Given the description of an element on the screen output the (x, y) to click on. 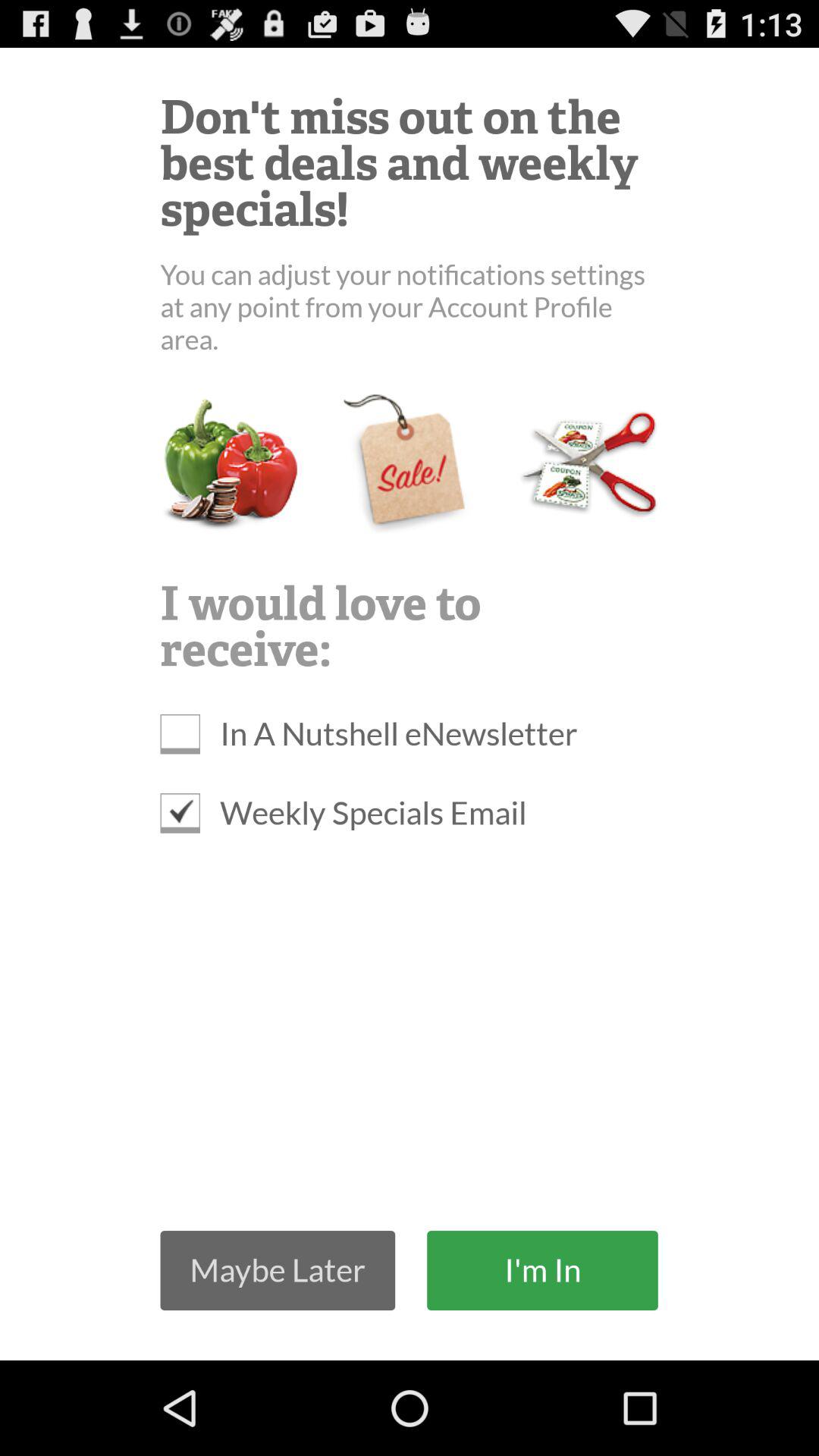
turn on the button next to the maybe later (542, 1270)
